Given the description of an element on the screen output the (x, y) to click on. 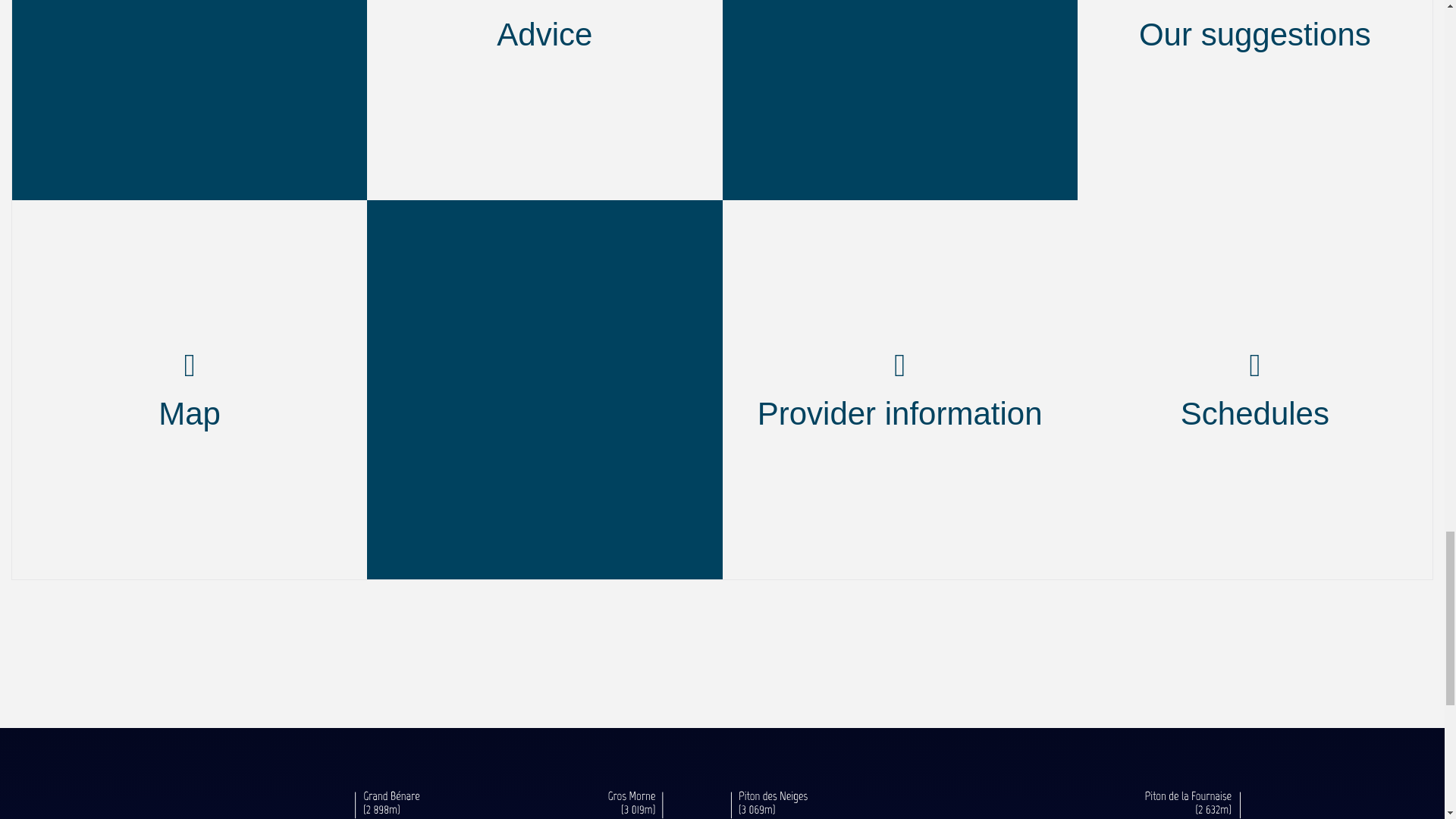
ESPACE PRO (443, 754)
CREDITS (198, 754)
LEGAL NOTICES (313, 754)
Pikpik Tours (188, 99)
Advice (544, 99)
PRIVACY POLICY (710, 754)
CONDITIONS OF SALE (876, 754)
